Given the description of an element on the screen output the (x, y) to click on. 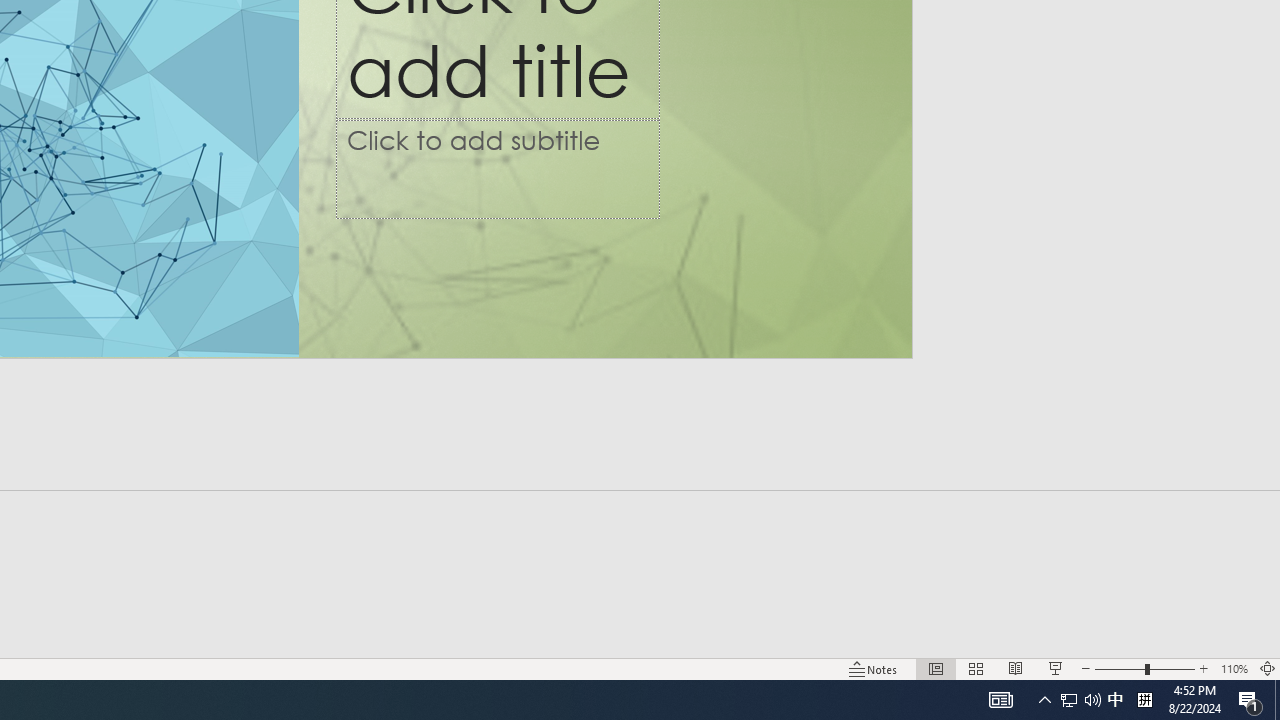
Zoom 110% (1234, 668)
